Given the description of an element on the screen output the (x, y) to click on. 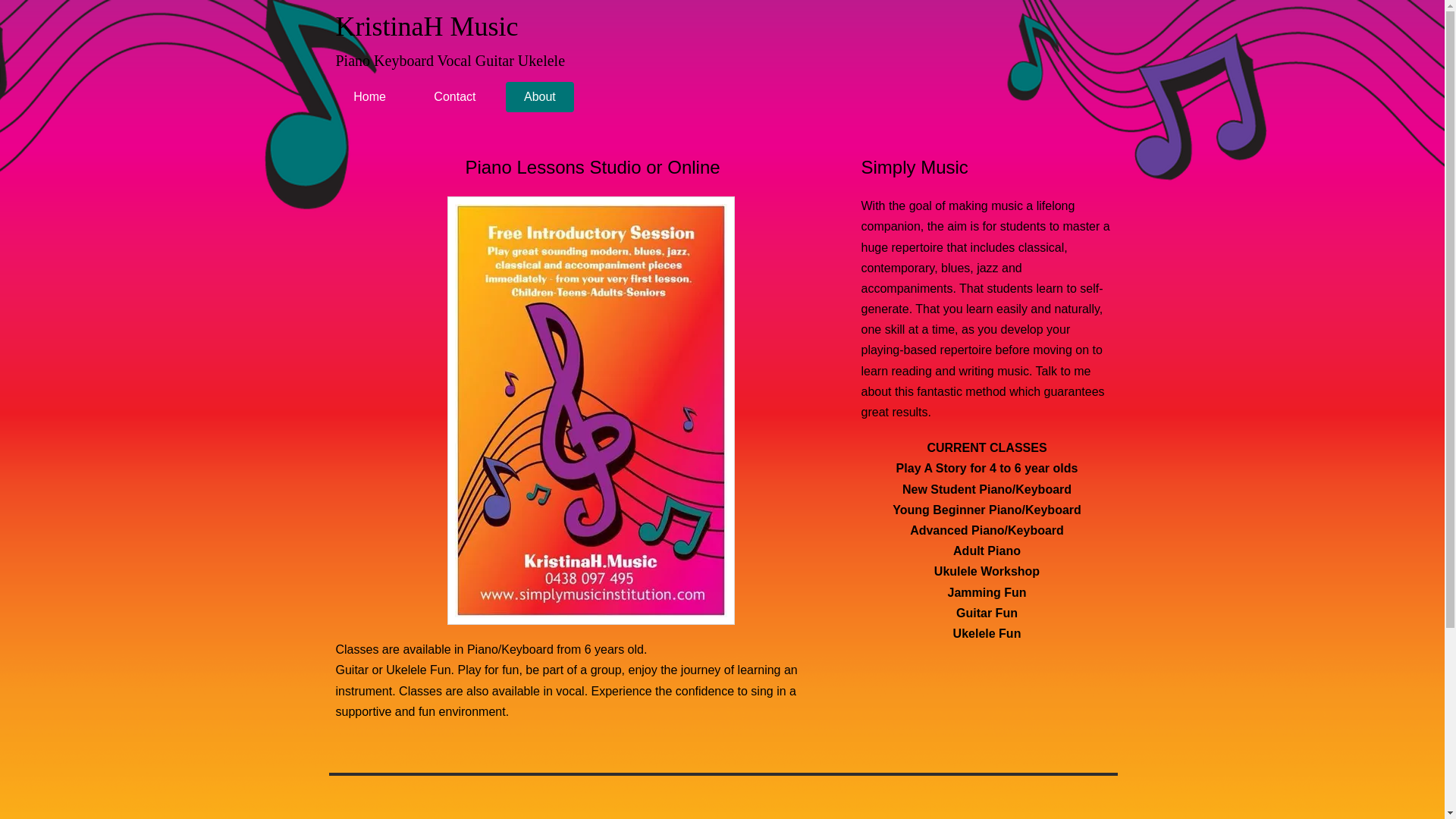
Home Element type: text (369, 96)
About Element type: text (539, 96)
Contact Element type: text (455, 96)
